Given the description of an element on the screen output the (x, y) to click on. 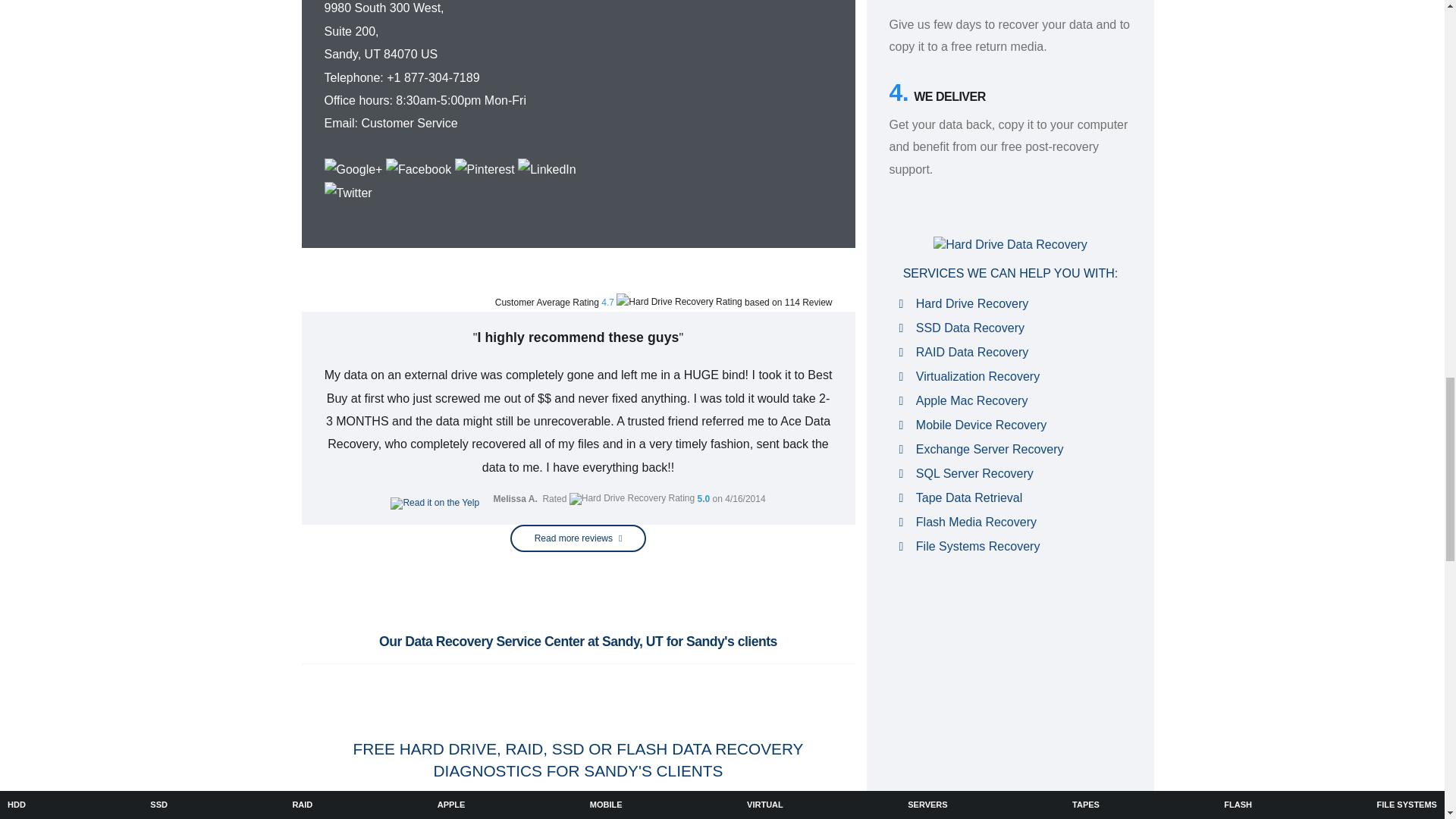
Read it on the Yelp (434, 503)
Sandy, UT Data Recovery Services (696, 59)
